Given the description of an element on the screen output the (x, y) to click on. 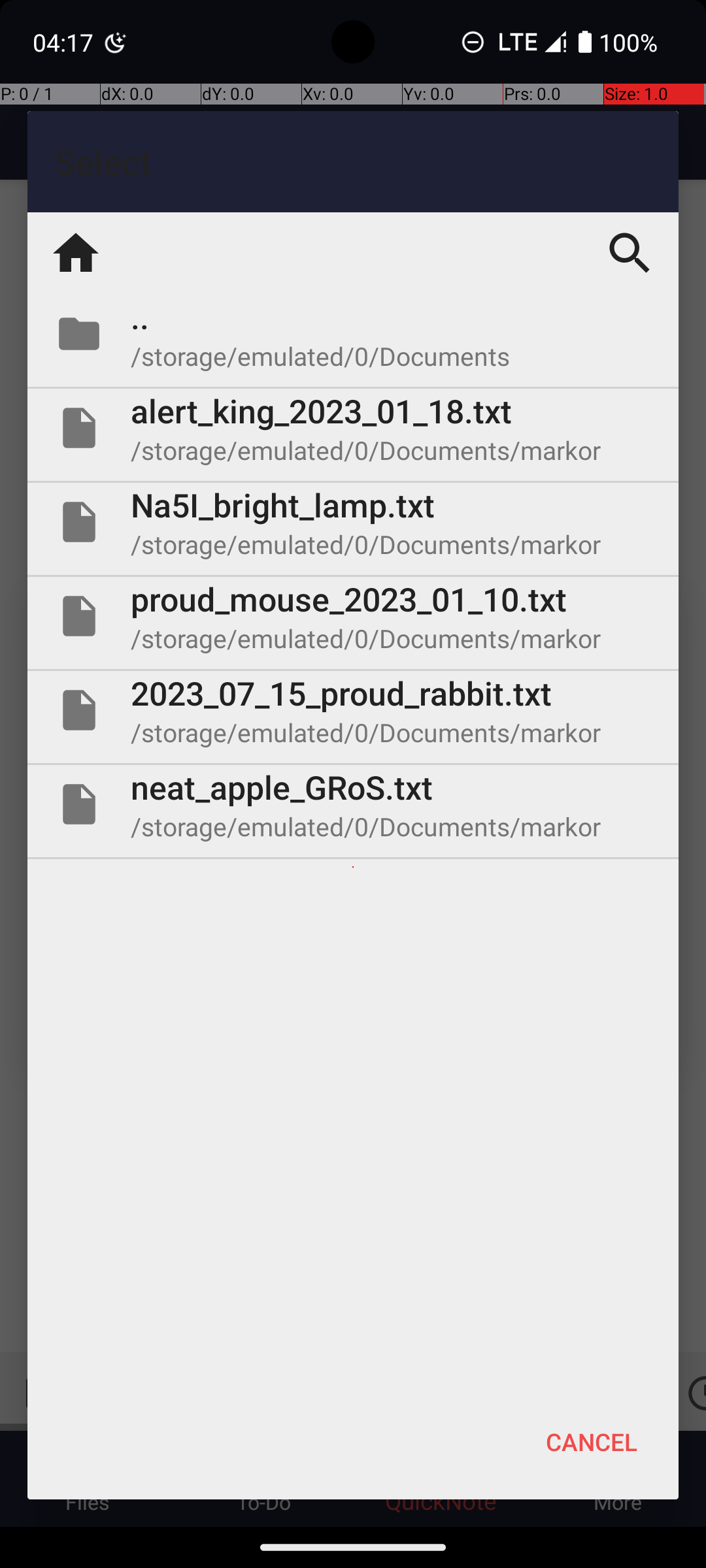
URL / Path Element type: android.widget.EditText (352, 786)
BROWSE FILESYSTEM Element type: android.widget.Button (352, 866)
04:17 Element type: android.widget.TextView (64, 41)
Digital Wellbeing notification: Bedtime mode is on Element type: android.widget.ImageView (115, 41)
